Given the description of an element on the screen output the (x, y) to click on. 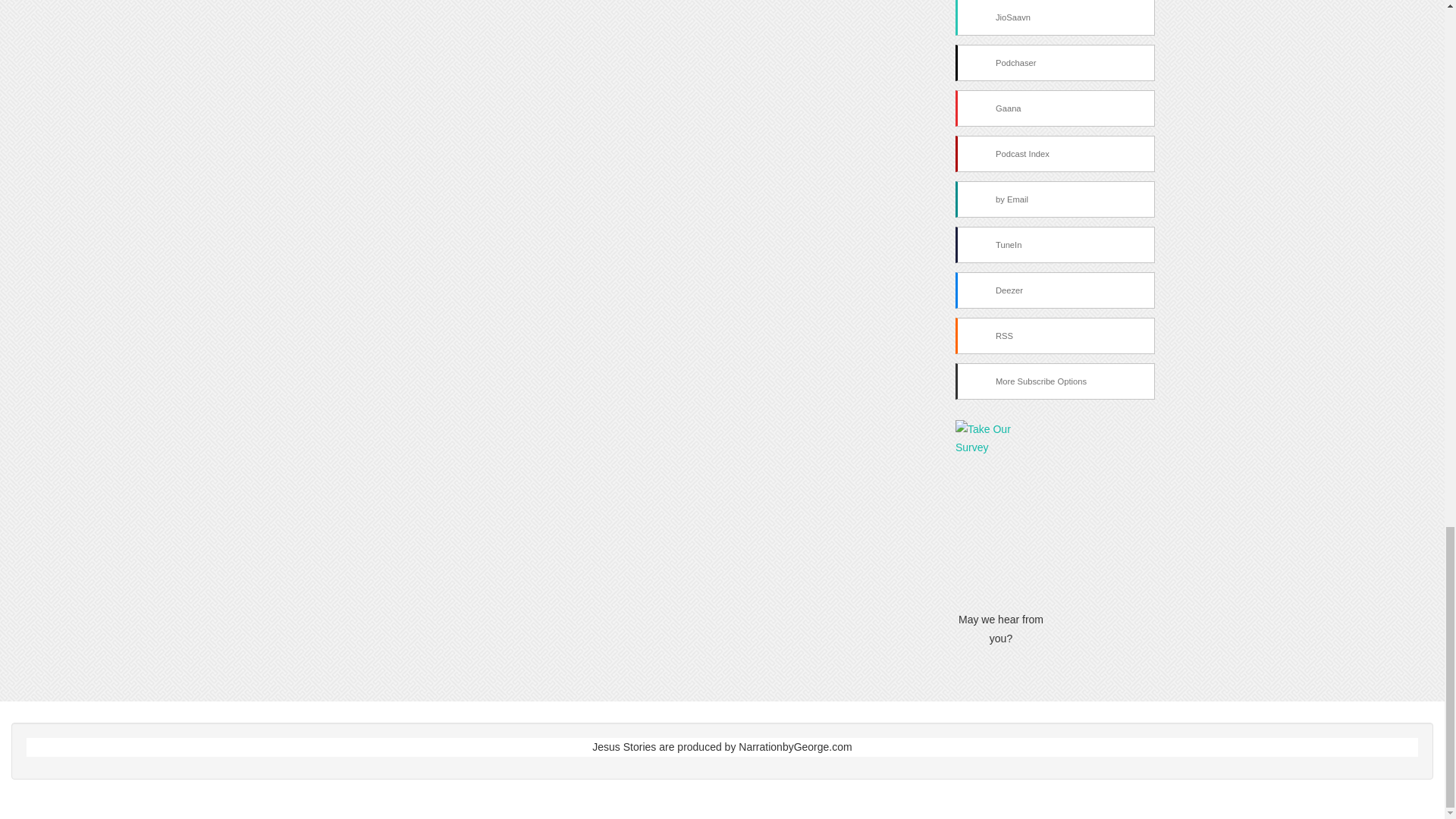
Subscribe on Podchaser (1054, 63)
Subscribe on Podcast Index (1054, 153)
Subscribe on JioSaavn (1054, 18)
Subscribe on Gaana (1054, 108)
Subscribe by Email (1054, 198)
